Given the description of an element on the screen output the (x, y) to click on. 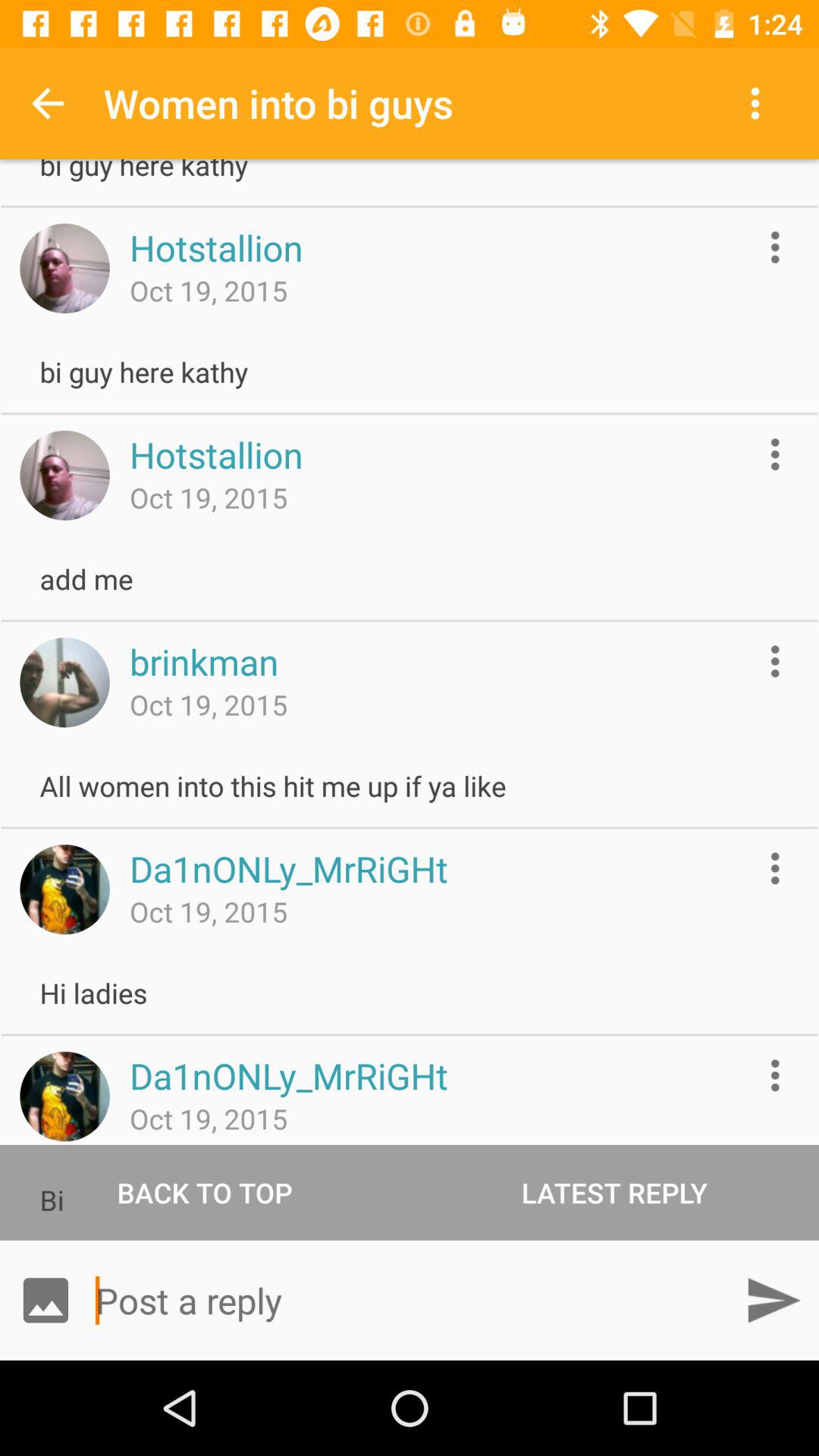
view this profile (64, 889)
